Given the description of an element on the screen output the (x, y) to click on. 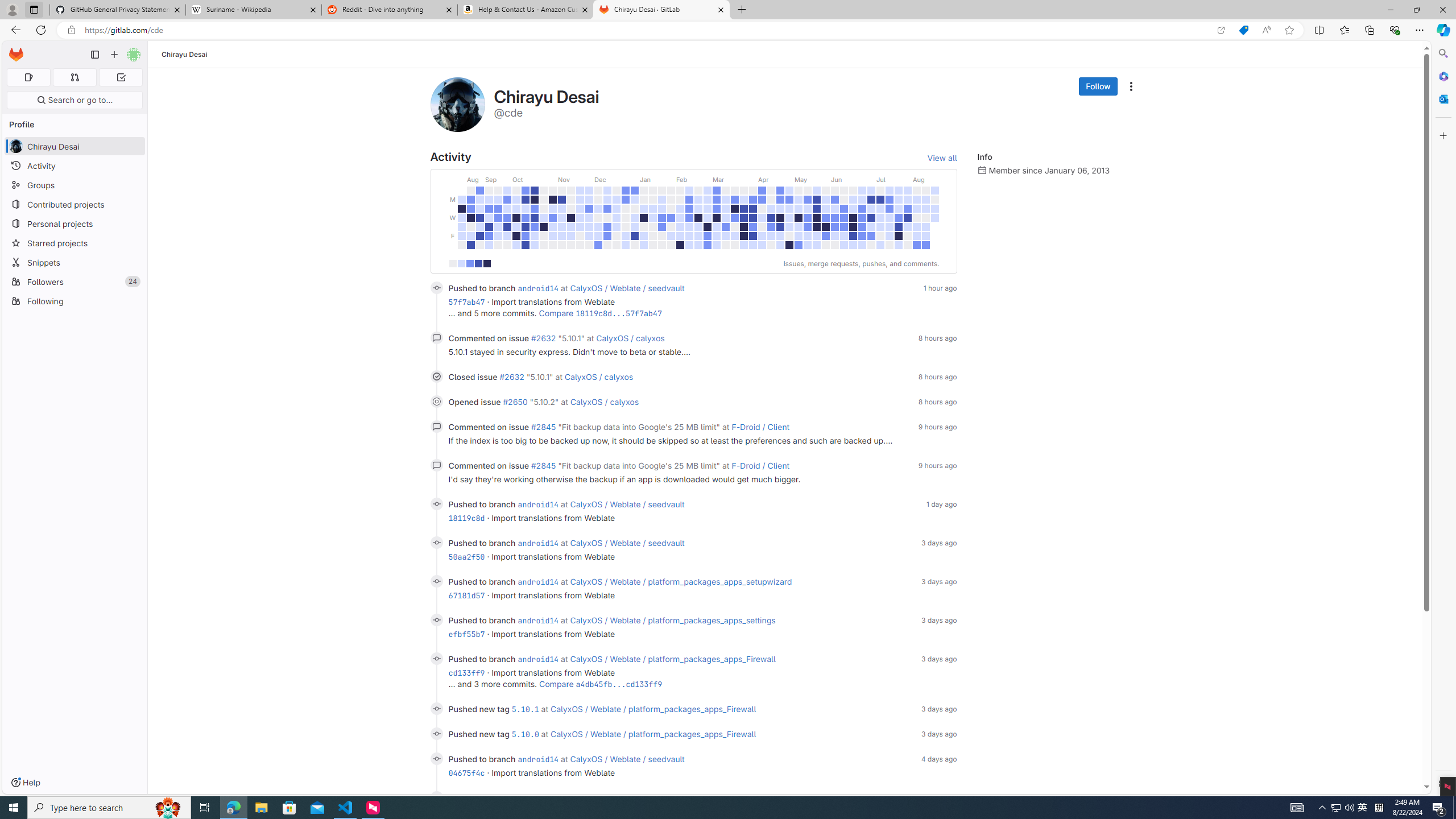
Class: s16 gl-fill-icon-subtle gl-mt-1 flex-shrink-0 (981, 169)
#2845 (542, 465)
Class: contrib-calendar (692, 215)
User profile picture (456, 103)
CalyxOS / Weblate / seedvault (626, 759)
